Given the description of an element on the screen output the (x, y) to click on. 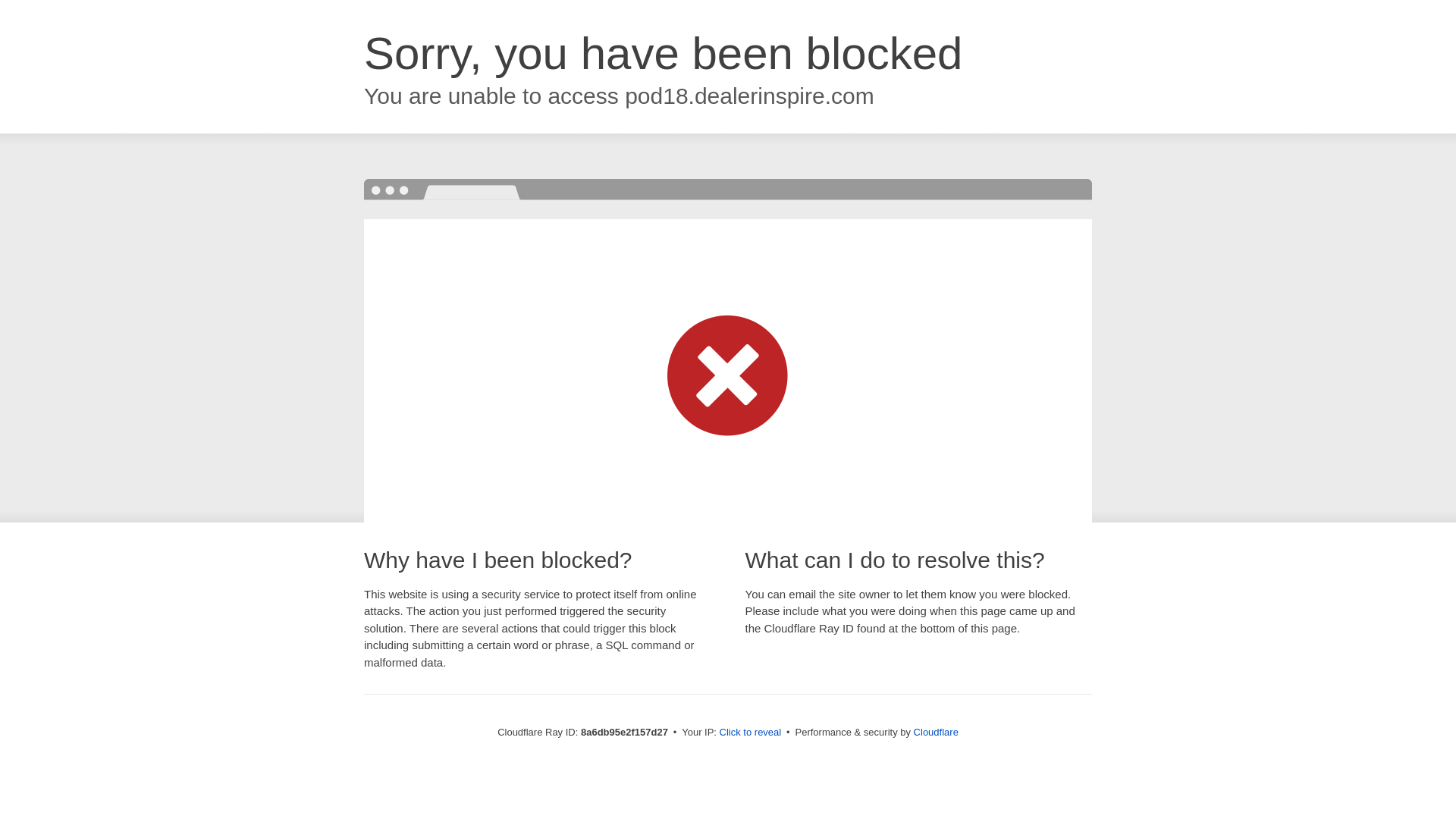
Click to reveal (750, 732)
Cloudflare (936, 731)
